Given the description of an element on the screen output the (x, y) to click on. 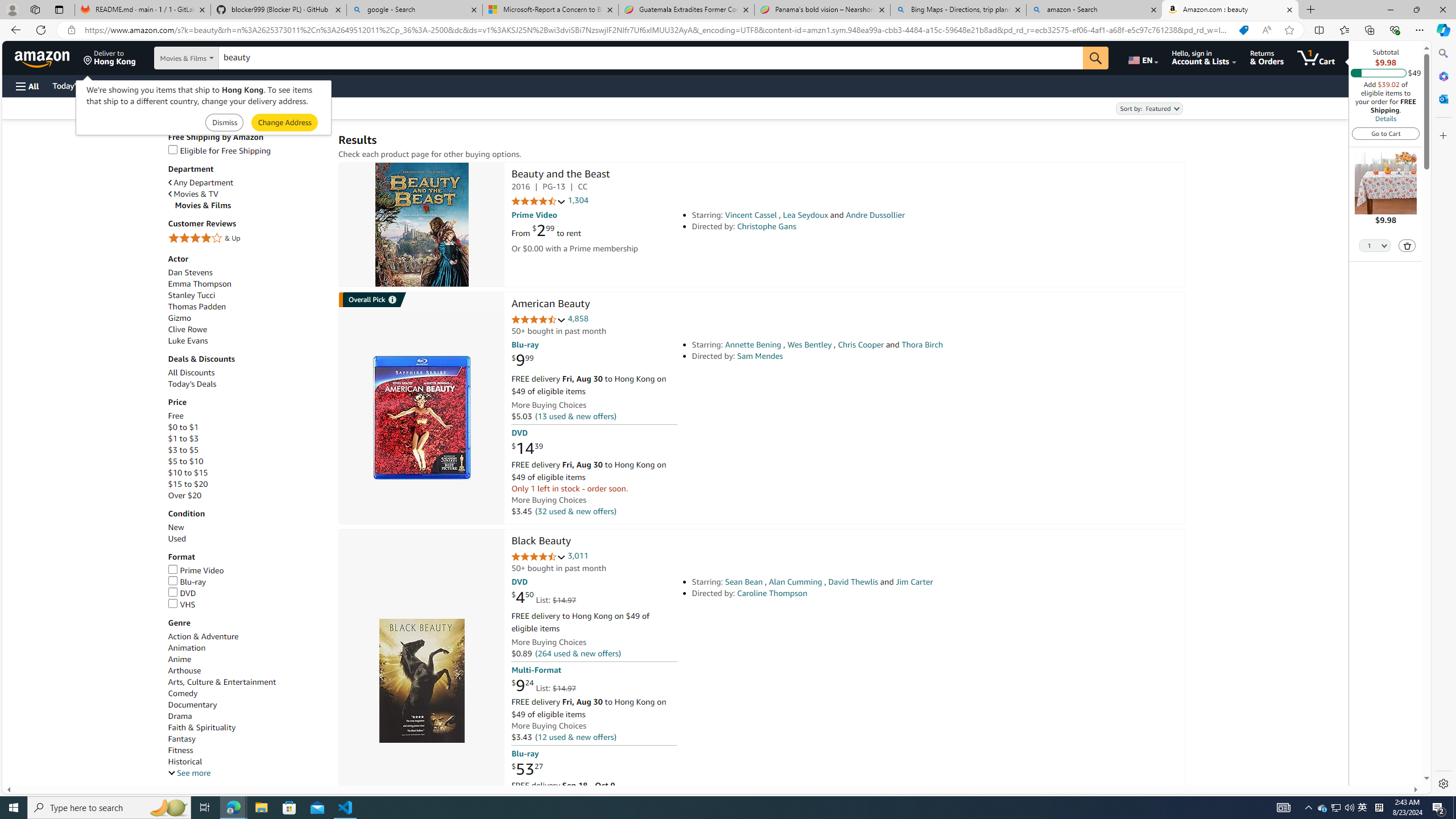
Blu-ray (247, 582)
Fitness (180, 750)
Action & Adventure (202, 636)
Historical (184, 761)
Arthouse (183, 670)
All Discounts (191, 372)
$10 to $15 (247, 472)
4.7 out of 5 stars (538, 557)
$15 to $20 (187, 484)
Drama (247, 716)
Clive Rowe (247, 329)
